Given the description of an element on the screen output the (x, y) to click on. 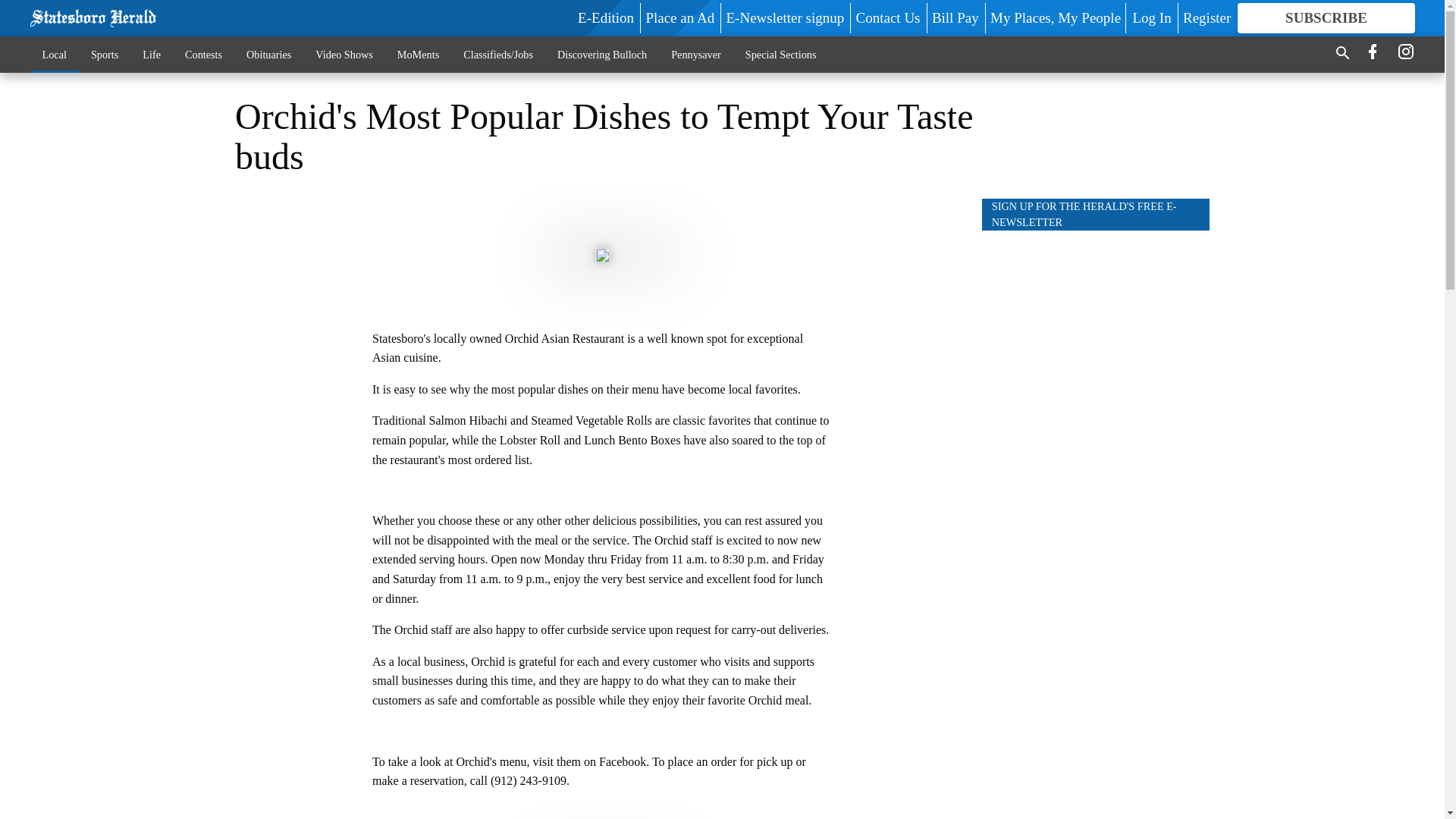
Discovering Bulloch (601, 54)
Bill Pay (954, 17)
Life (152, 54)
Local (54, 54)
Contests (203, 54)
Log In (1151, 17)
Sports (104, 54)
Video Shows (343, 54)
Obituaries (268, 54)
E-Edition (605, 17)
